Given the description of an element on the screen output the (x, y) to click on. 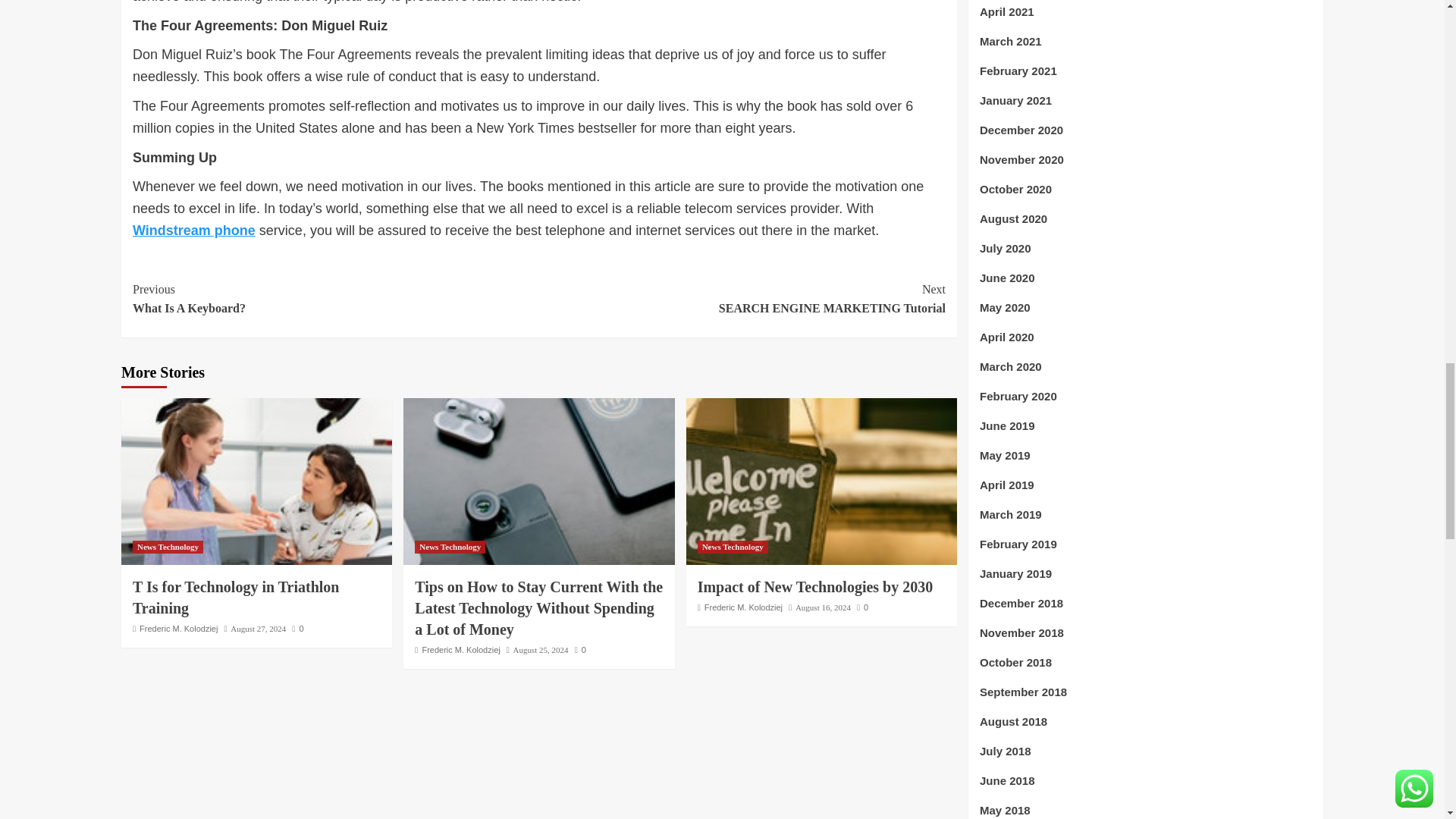
Impact of New Technologies by 2030 (815, 586)
Windstream phone (335, 299)
Impact of New Technologies by 2030 (194, 230)
News Technology (820, 481)
T Is for Technology in Triathlon Training (449, 546)
0 (235, 597)
